Given the description of an element on the screen output the (x, y) to click on. 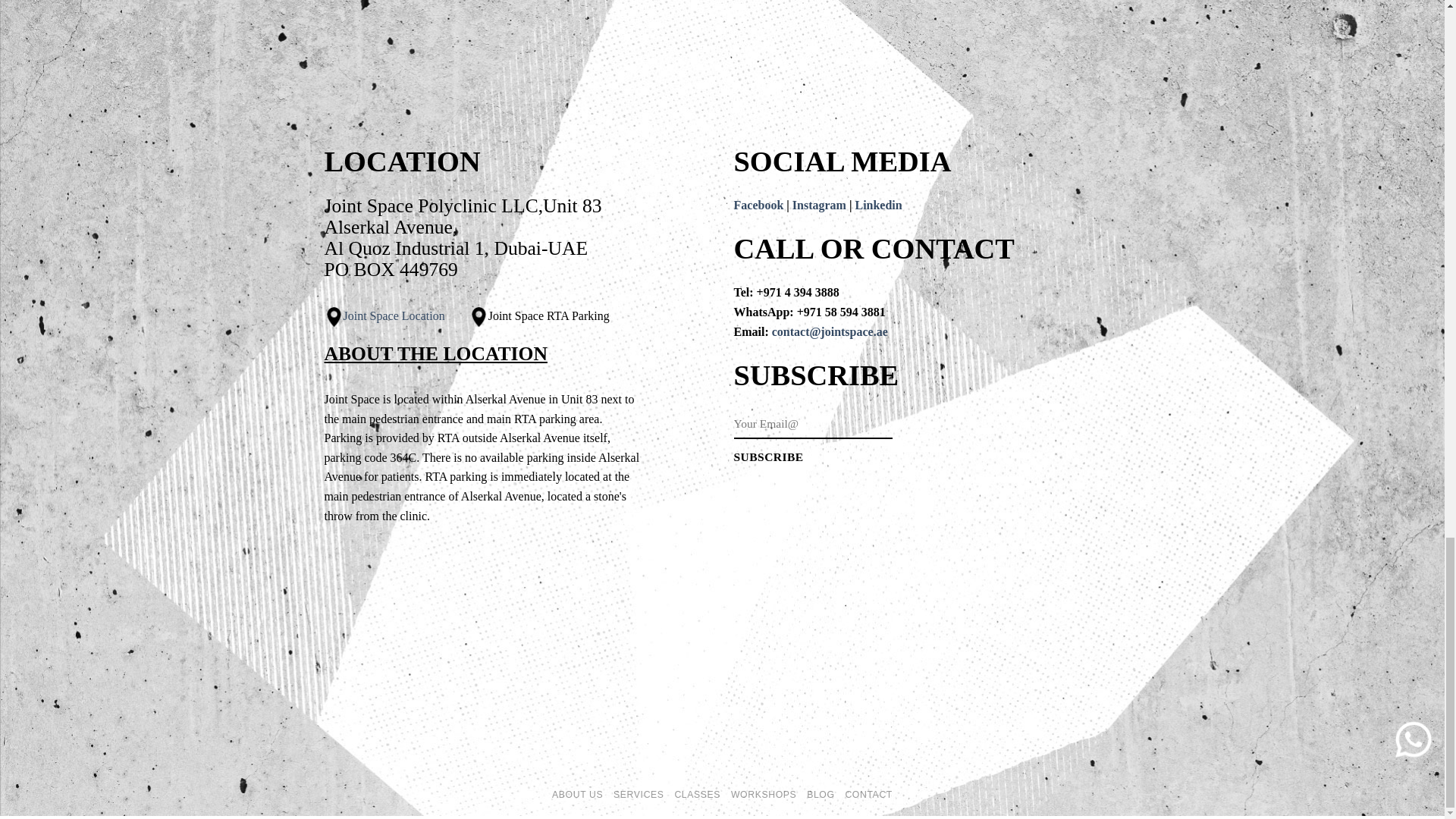
Subscribe (768, 456)
